Given the description of an element on the screen output the (x, y) to click on. 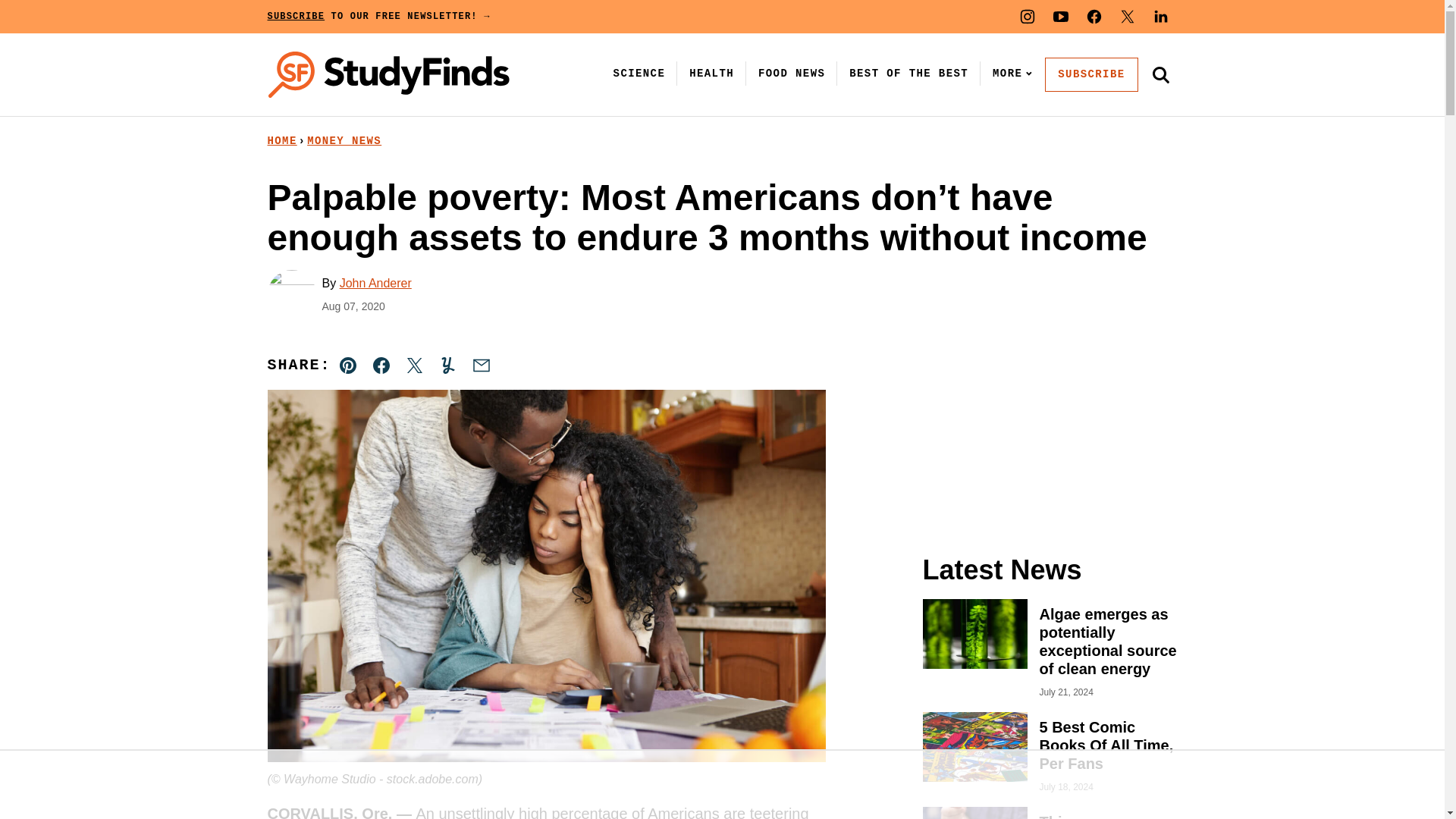
Share on Pinterest (348, 365)
FOOD NEWS (791, 73)
Share on Facebook (381, 365)
HEALTH (711, 73)
Share on Twitter (413, 365)
BEST OF THE BEST (908, 73)
SUBSCRIBE (1091, 74)
SCIENCE (639, 73)
MORE (1009, 73)
MONEY NEWS (344, 141)
HOME (281, 141)
Share on Yummly (447, 365)
Share via Email (480, 365)
